Given the description of an element on the screen output the (x, y) to click on. 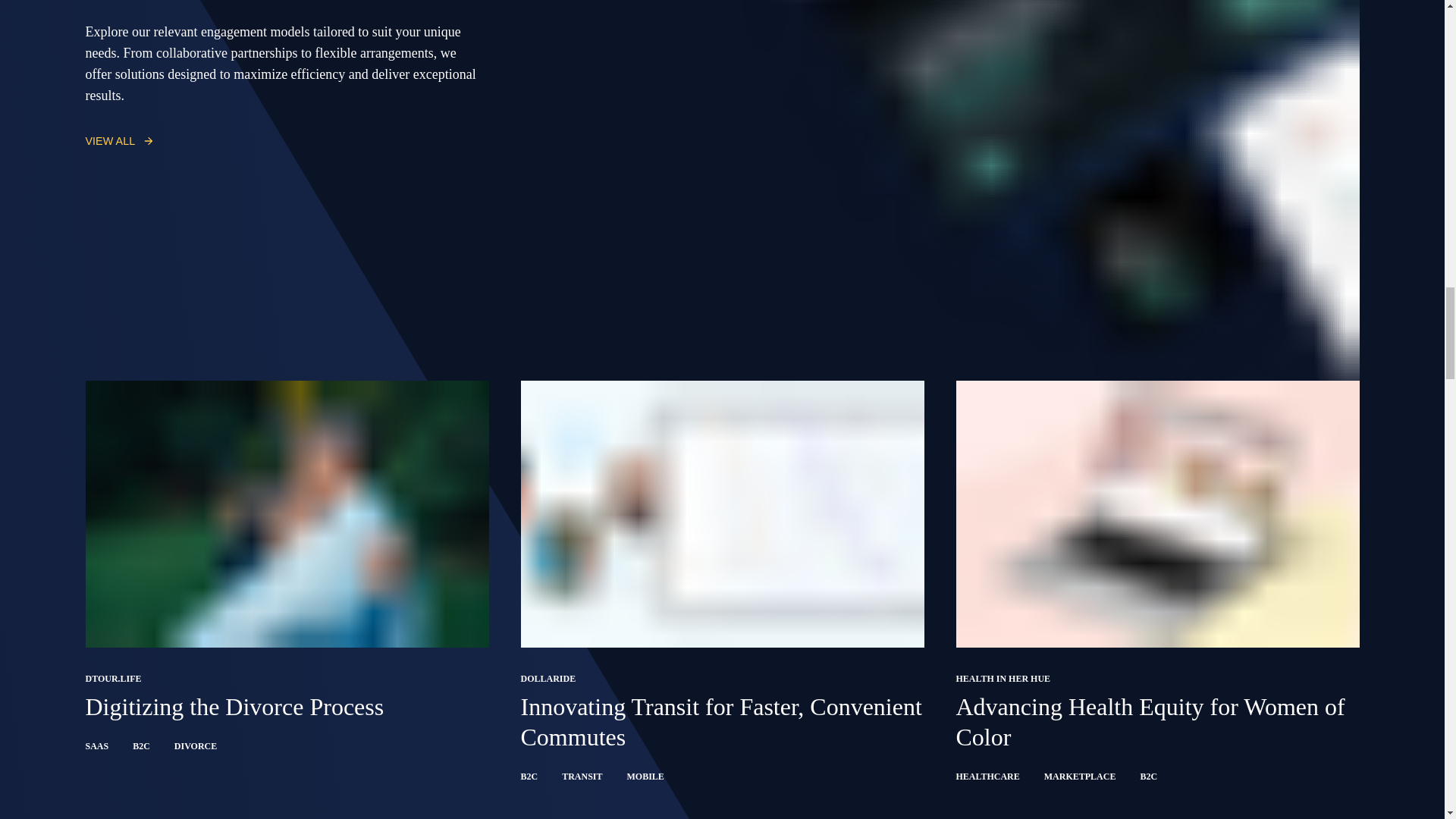
VIEW ALL (119, 140)
